Given the description of an element on the screen output the (x, y) to click on. 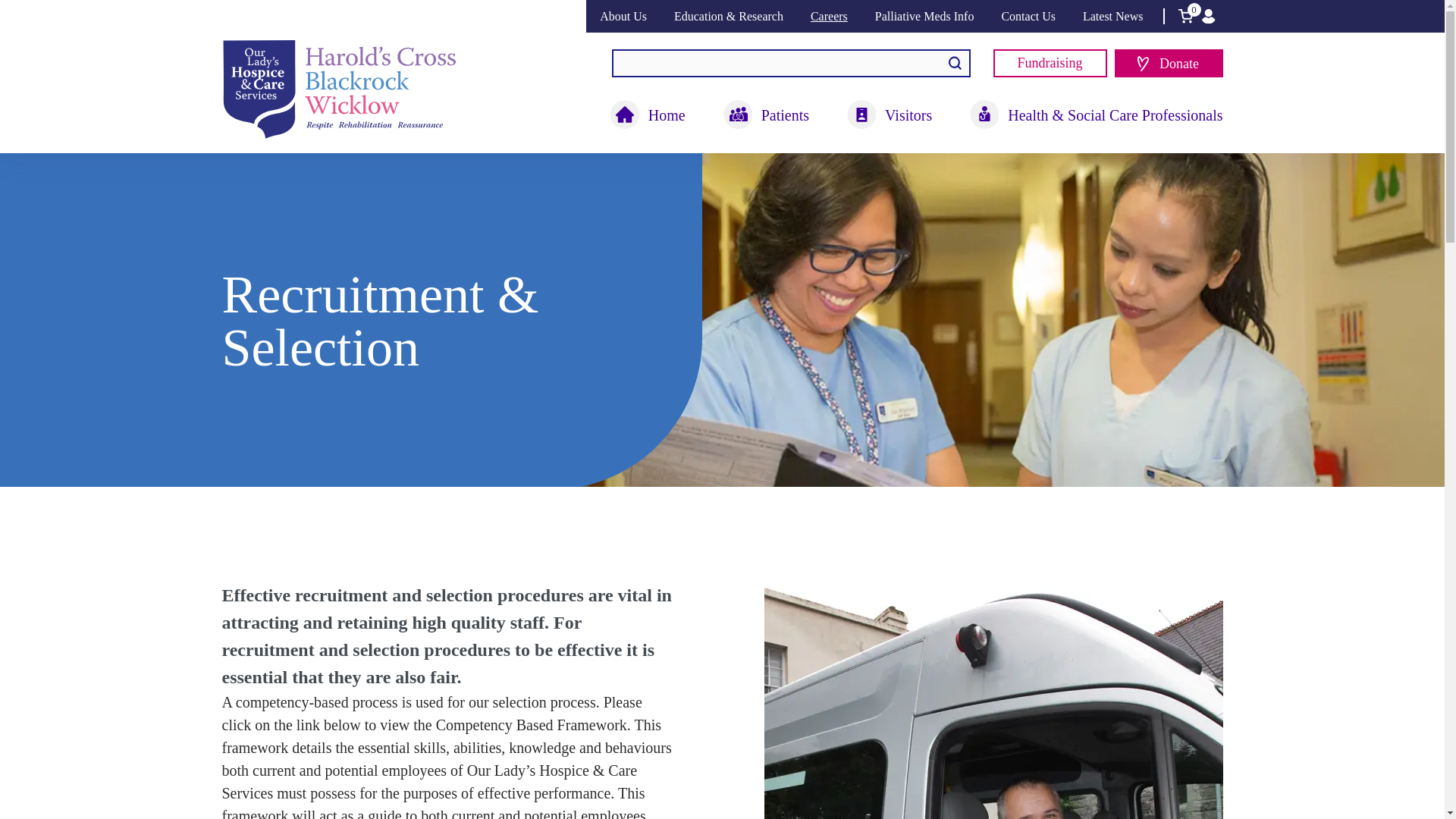
Palliative Meds Info (924, 15)
Fundraising (1049, 62)
Donate (1169, 62)
Latest News (1112, 15)
Fundraising (1049, 62)
Careers (828, 15)
Careers (828, 15)
0 (1184, 16)
Contact Us (1028, 15)
Visitors (889, 115)
